Given the description of an element on the screen output the (x, y) to click on. 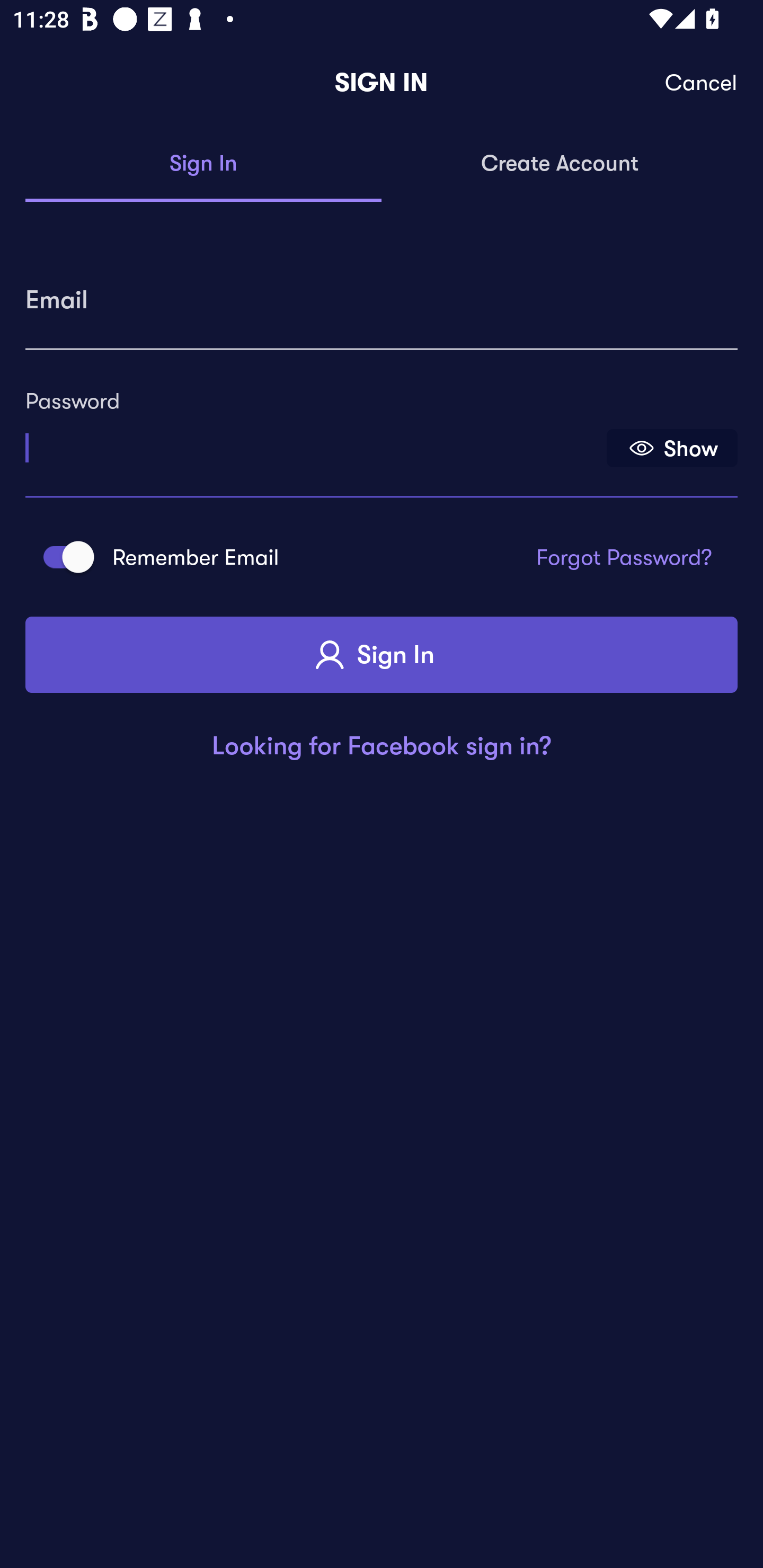
Cancel (701, 82)
Sign In (203, 164)
Create Account (559, 164)
Email (381, 293)
Password (314, 441)
Show Password Show (671, 447)
Remember Email (62, 557)
Sign In (381, 654)
